Given the description of an element on the screen output the (x, y) to click on. 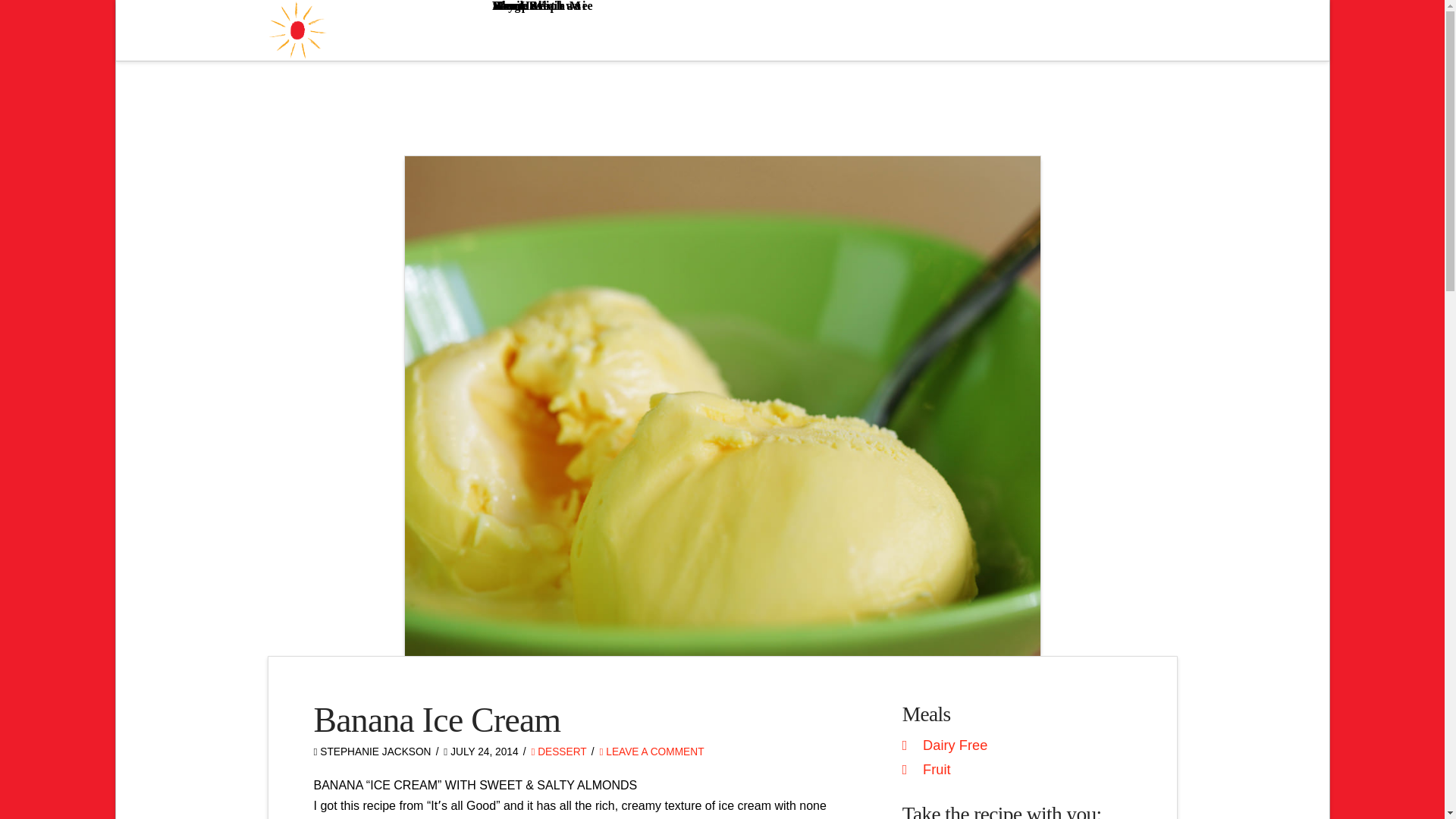
Fruit (936, 769)
LEAVE A COMMENT (650, 751)
DESSERT (558, 751)
Dairy Free (955, 744)
